Given the description of an element on the screen output the (x, y) to click on. 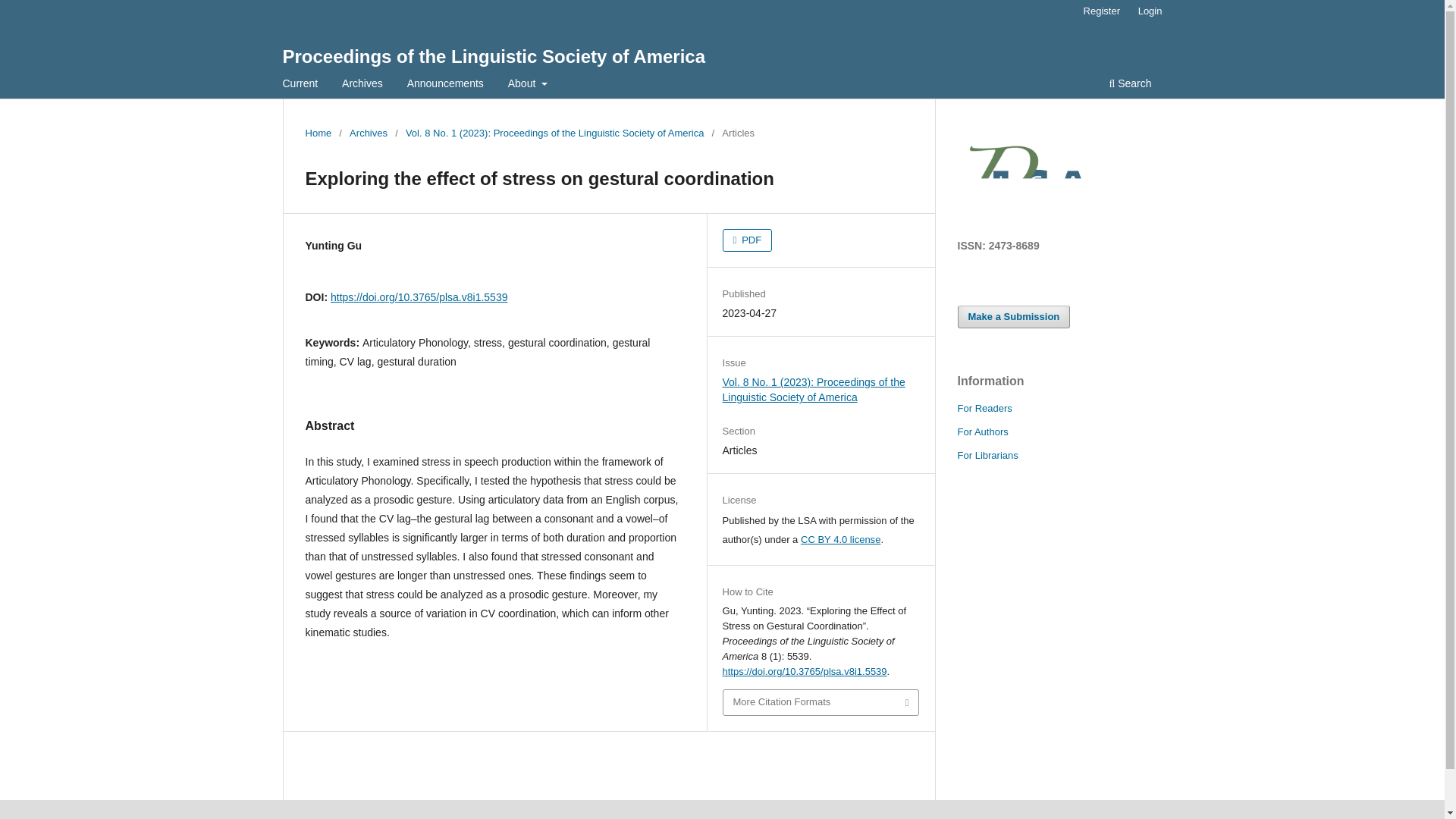
Current (300, 85)
Search (1129, 85)
Archives (362, 85)
Home (317, 133)
PDF (747, 240)
Login (1150, 11)
About (527, 85)
Proceedings of the Linguistic Society of America (493, 56)
CC BY 4.0 license (840, 539)
Announcements (445, 85)
